Given the description of an element on the screen output the (x, y) to click on. 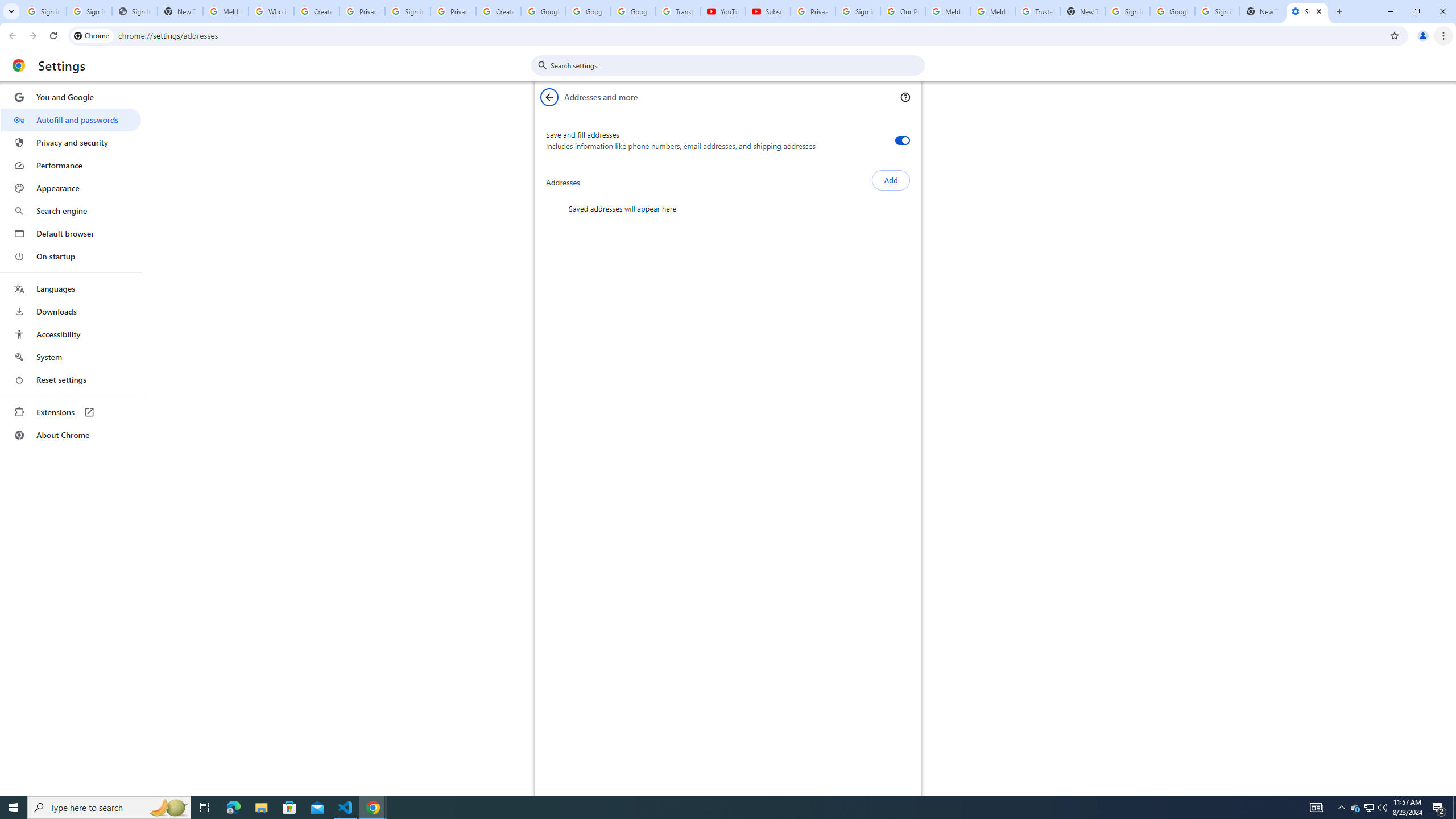
Sign in - Google Accounts (43, 11)
Create your Google Account (316, 11)
You and Google (70, 96)
Sign in - Google Accounts (88, 11)
AutomationID: menu (71, 265)
Who is my administrator? - Google Account Help (270, 11)
Search engine (70, 210)
Subscriptions - YouTube (767, 11)
Settings - Addresses and more (1307, 11)
